Given the description of an element on the screen output the (x, y) to click on. 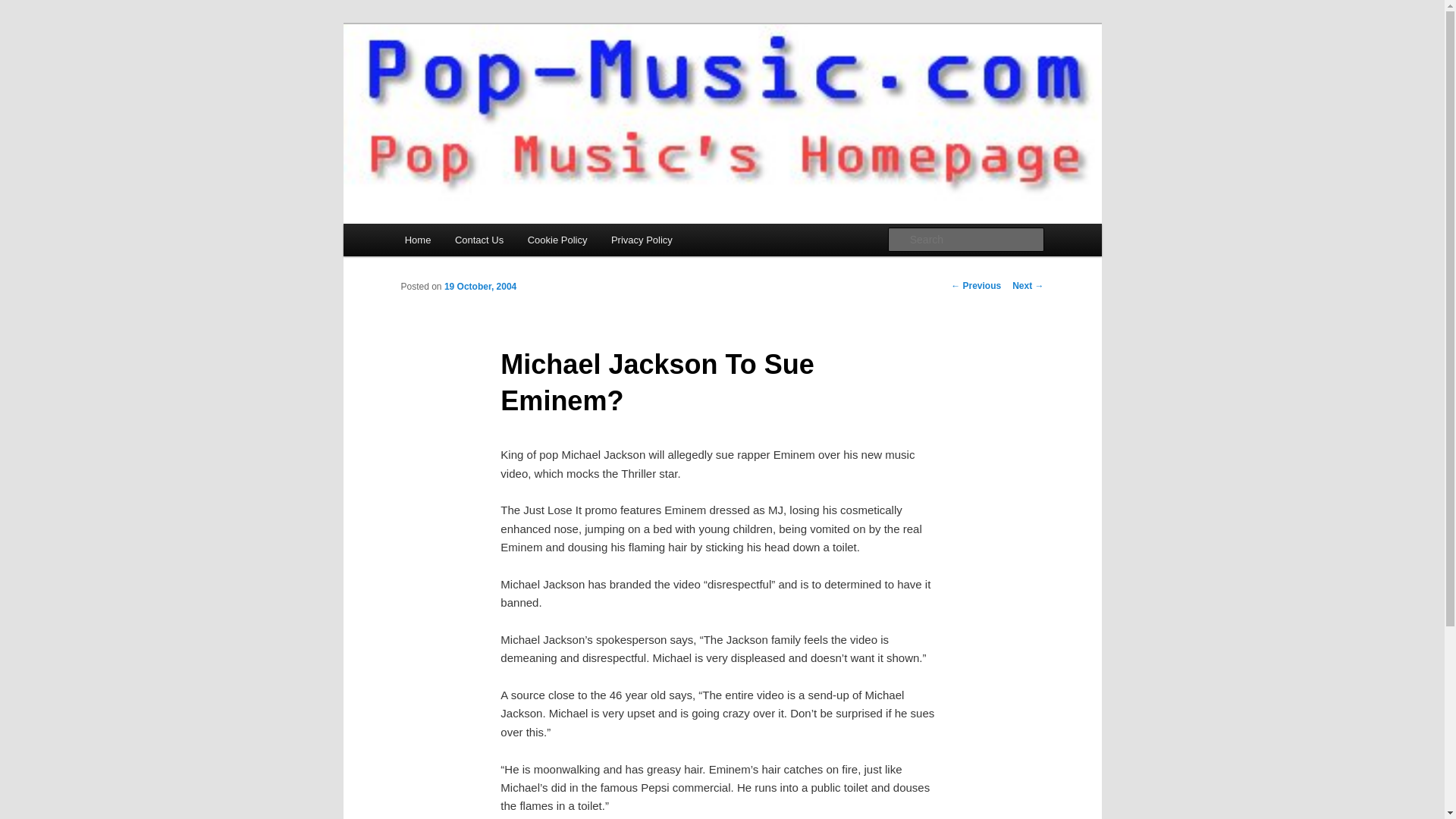
Cookie Policy (556, 239)
Contact Us (478, 239)
Home (417, 239)
Search (24, 8)
5:00 am (480, 286)
Pop-Music.com (484, 78)
19 October, 2004 (480, 286)
Privacy Policy (641, 239)
